Given the description of an element on the screen output the (x, y) to click on. 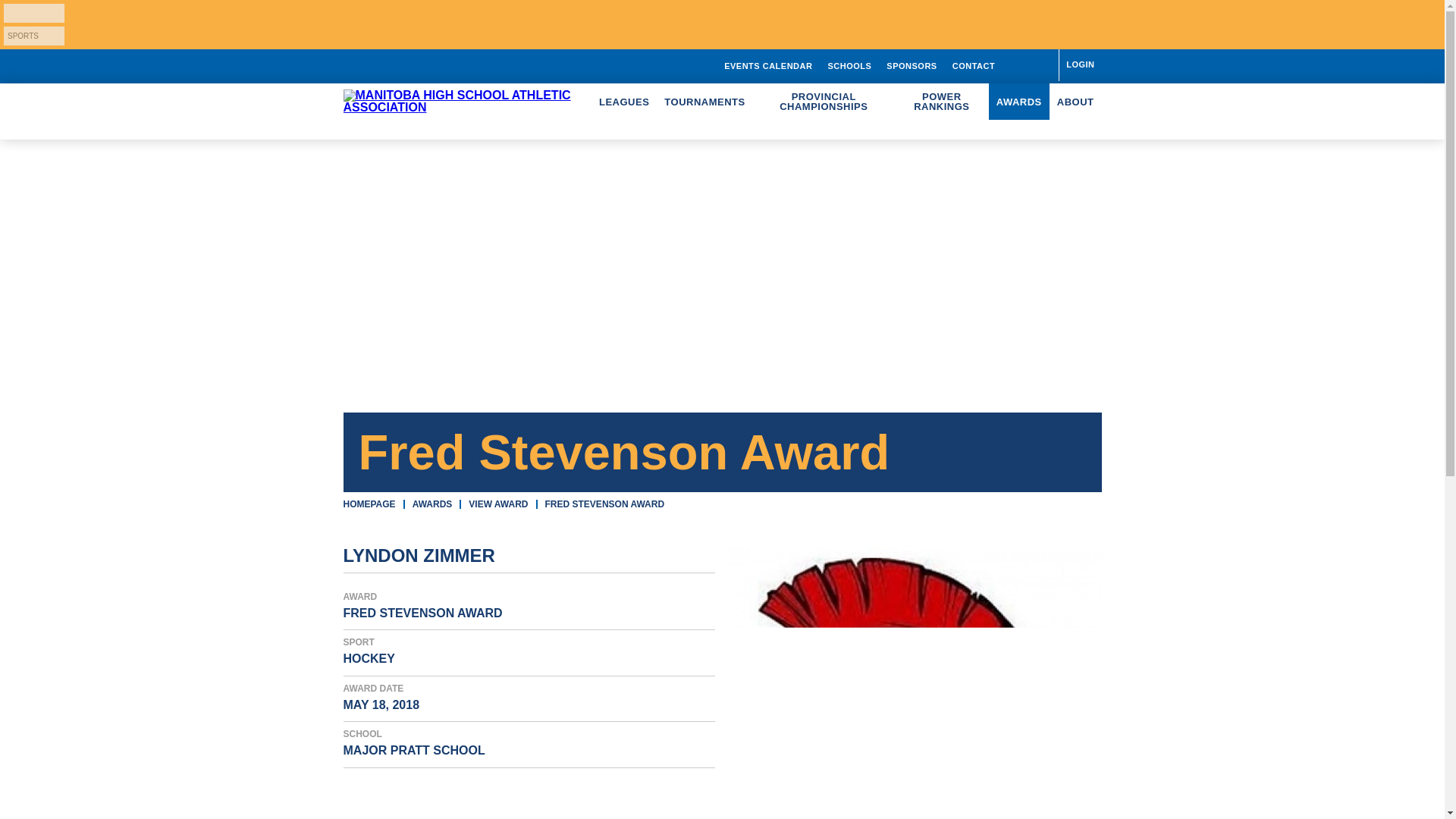
LEAGUES (623, 101)
Homepage (368, 503)
LOGIN (1079, 65)
EVENTS CALENDAR (767, 65)
SPONSORS (911, 65)
SCHOOLS (849, 65)
CONTACT (973, 65)
TOURNAMENTS (704, 101)
